Given the description of an element on the screen output the (x, y) to click on. 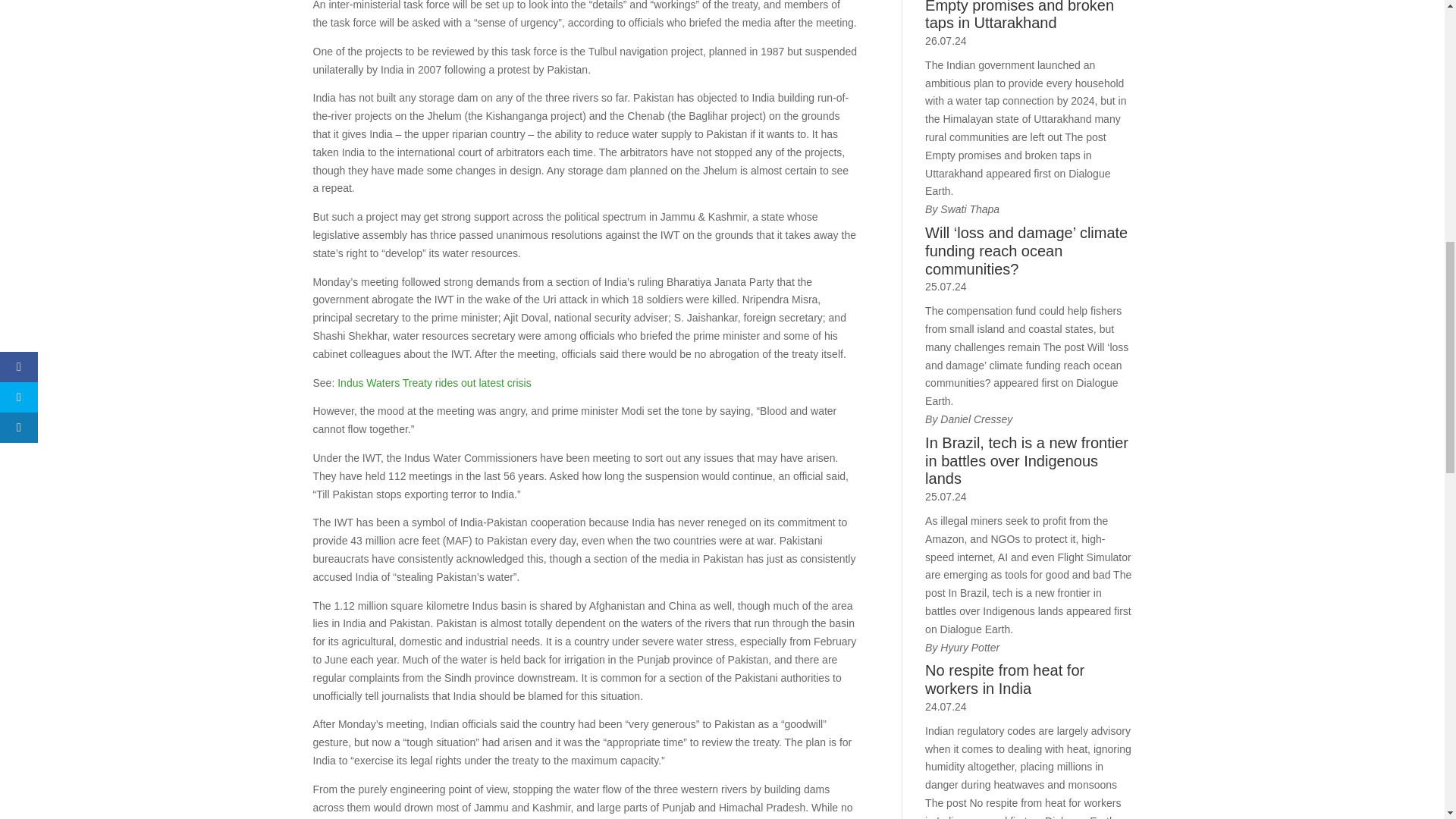
Empty promises and broken taps in Uttarakhand (1027, 16)
No respite from heat for workers in India (1027, 679)
Indus Waters Treaty rides out latest crisis (434, 382)
